Given the description of an element on the screen output the (x, y) to click on. 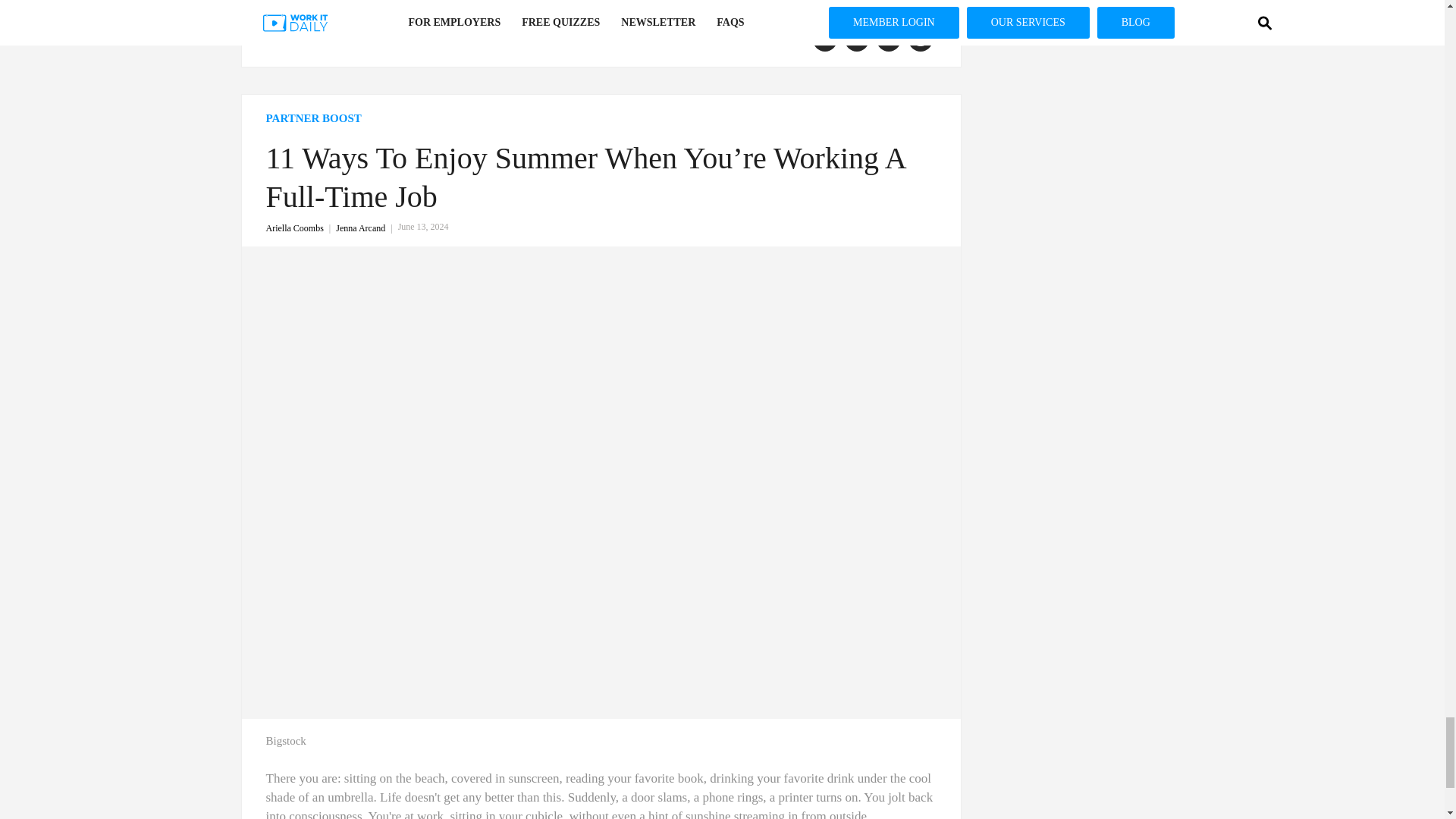
PARTNER BOOST (600, 118)
Jenna Arcand (366, 227)
MEDICAL ASSISTANT TRAITS (346, 35)
Ariella Coombs (300, 227)
